Given the description of an element on the screen output the (x, y) to click on. 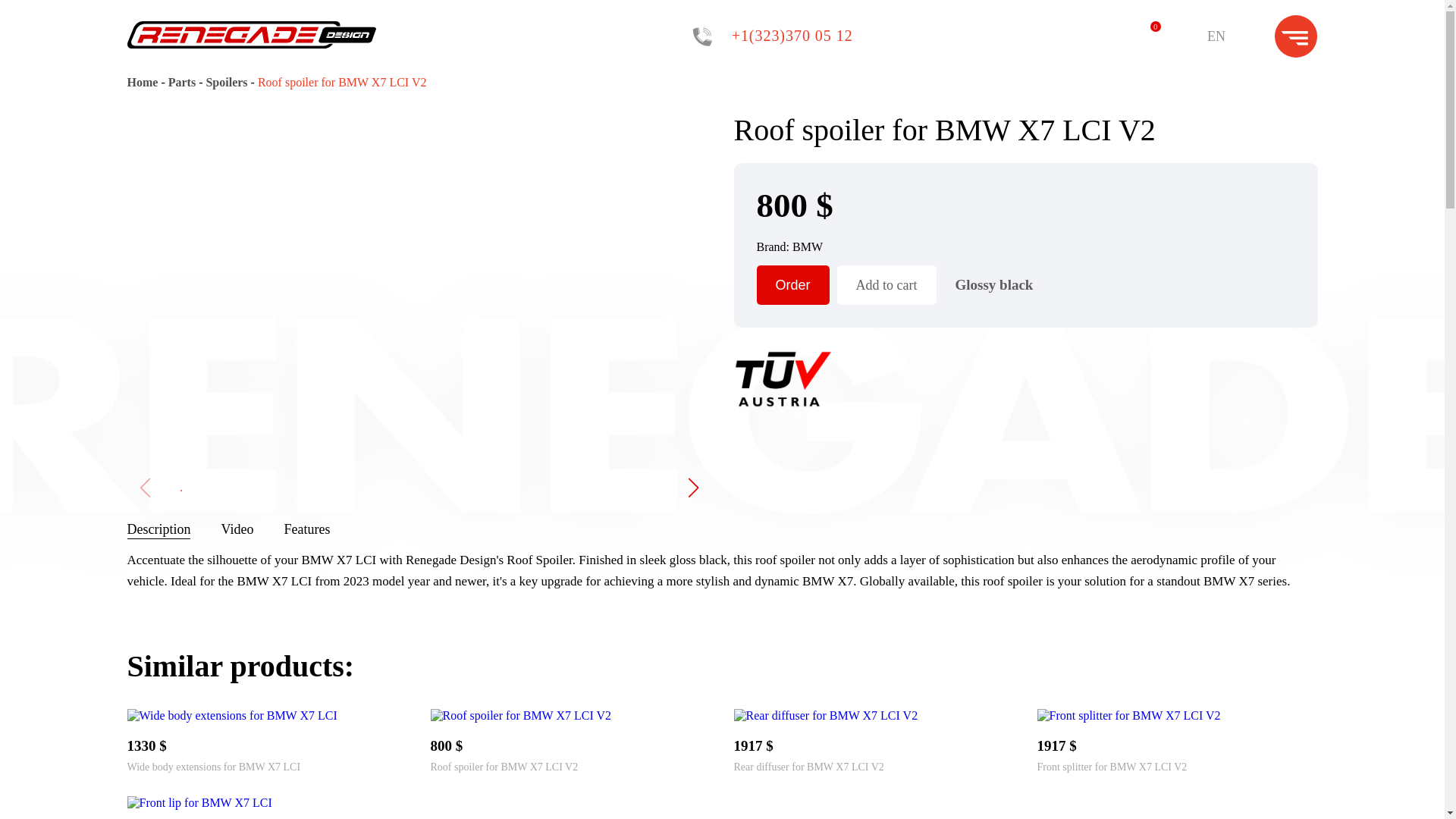
Front splitter for BMW X7 LCI V2 (1112, 767)
0 (1145, 36)
Front lip for BMW X7 LCI (200, 802)
Rear diffuser for BMW X7 LCI V2 (825, 715)
Home (144, 82)
Roof spoiler for BMW X7 LCI V2 (504, 767)
Wide body extensions for BMW X7 LCI (214, 767)
Order (793, 284)
Spoilers (227, 82)
Front splitter for BMW X7 LCI V2 (1112, 767)
